Given the description of an element on the screen output the (x, y) to click on. 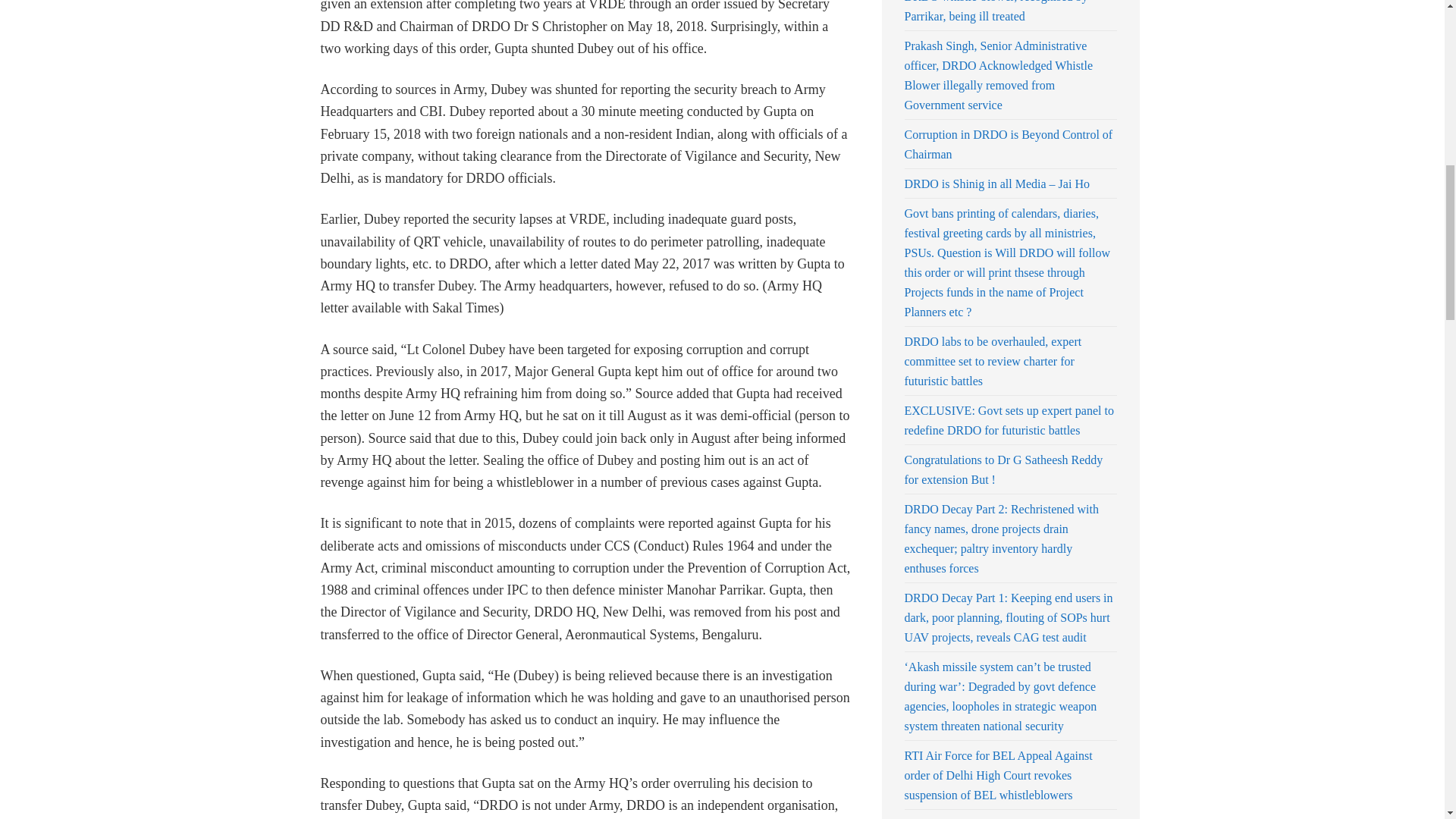
Corruption in DRDO is Beyond Control of Chairman (1008, 143)
Congratulations to Dr G Satheesh Reddy for extension But ! (1003, 469)
